Given the description of an element on the screen output the (x, y) to click on. 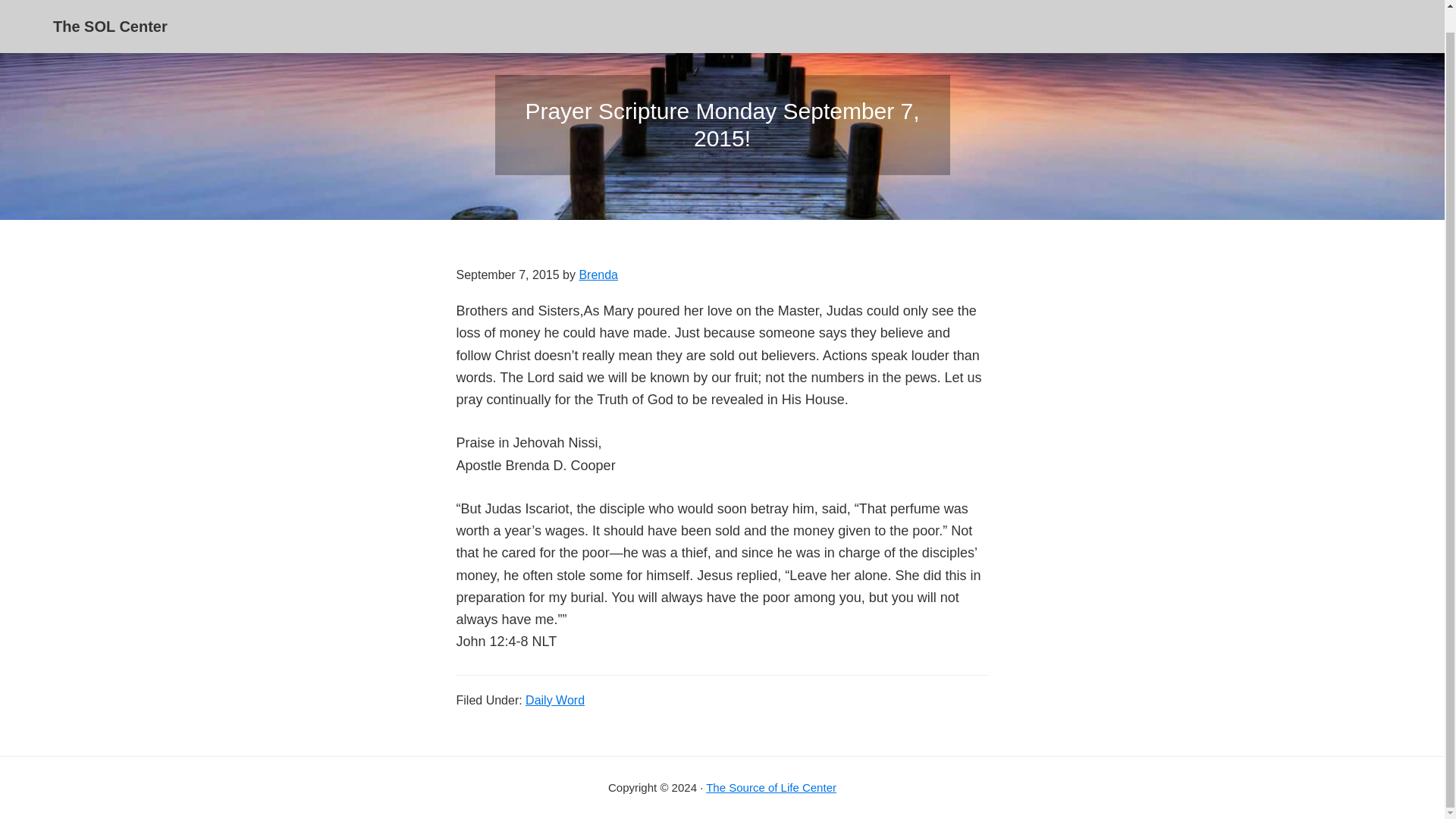
Daily Word (555, 698)
The Source of Life Center (770, 787)
Brenda (597, 274)
The SOL Center (109, 6)
